Given the description of an element on the screen output the (x, y) to click on. 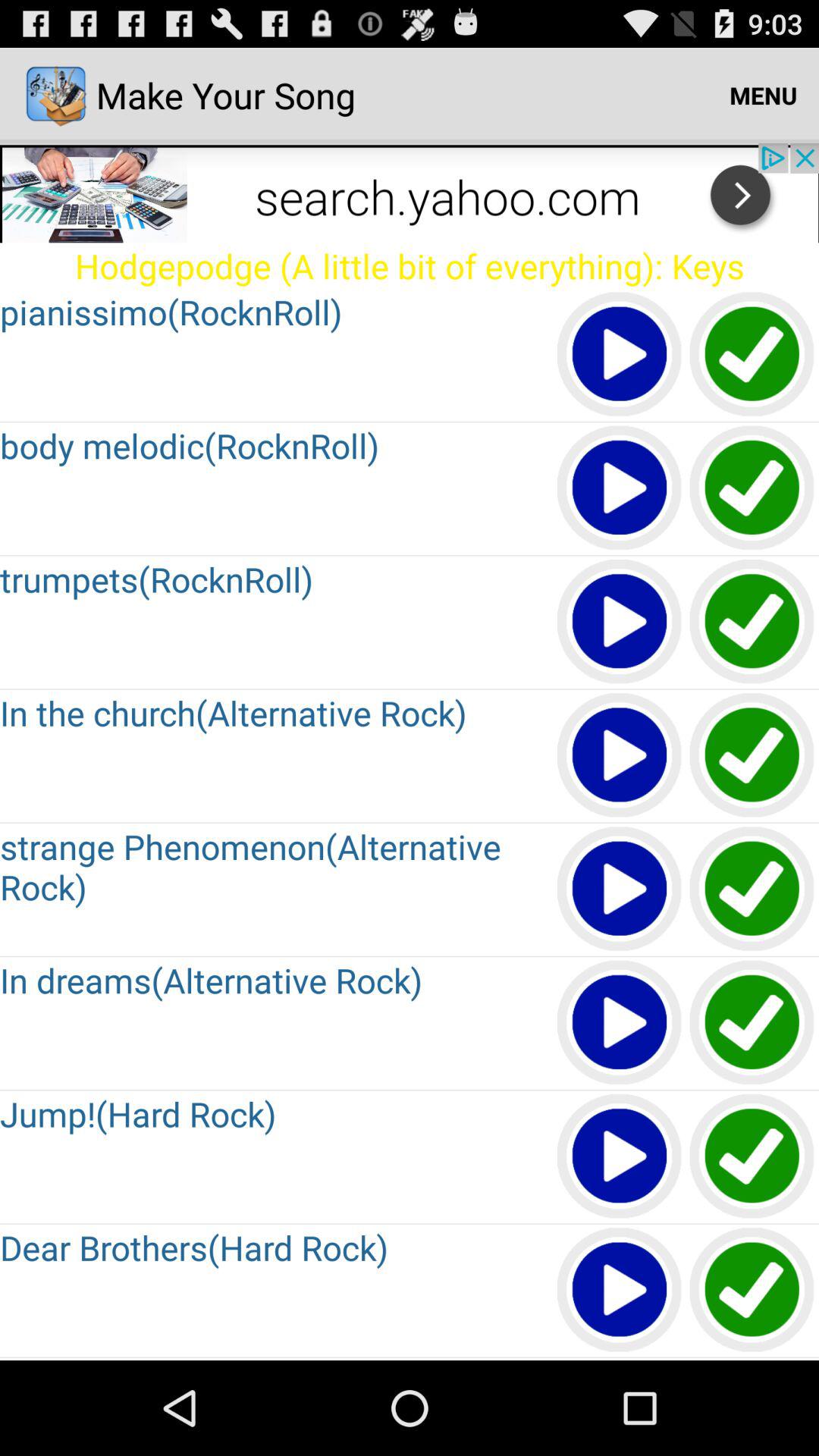
right image (752, 354)
